Given the description of an element on the screen output the (x, y) to click on. 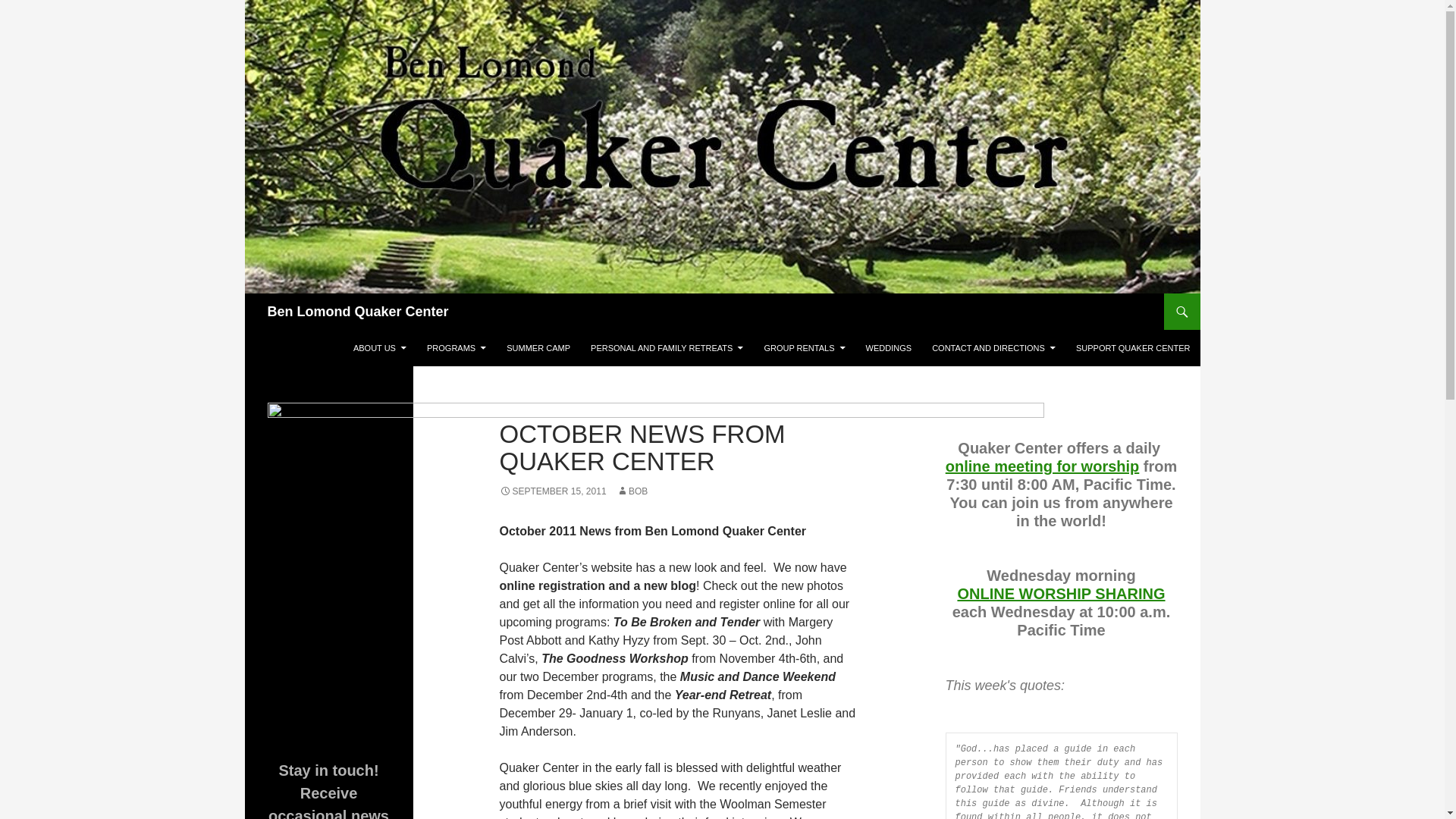
SUMMER CAMP (538, 348)
ABOUT US (378, 348)
WEDDINGS (889, 348)
CONTACT AND DIRECTIONS (993, 348)
Ben Lomond Quaker Center (357, 311)
PROGRAMS (456, 348)
PERSONAL AND FAMILY RETREATS (666, 348)
GROUP RENTALS (803, 348)
